Given the description of an element on the screen output the (x, y) to click on. 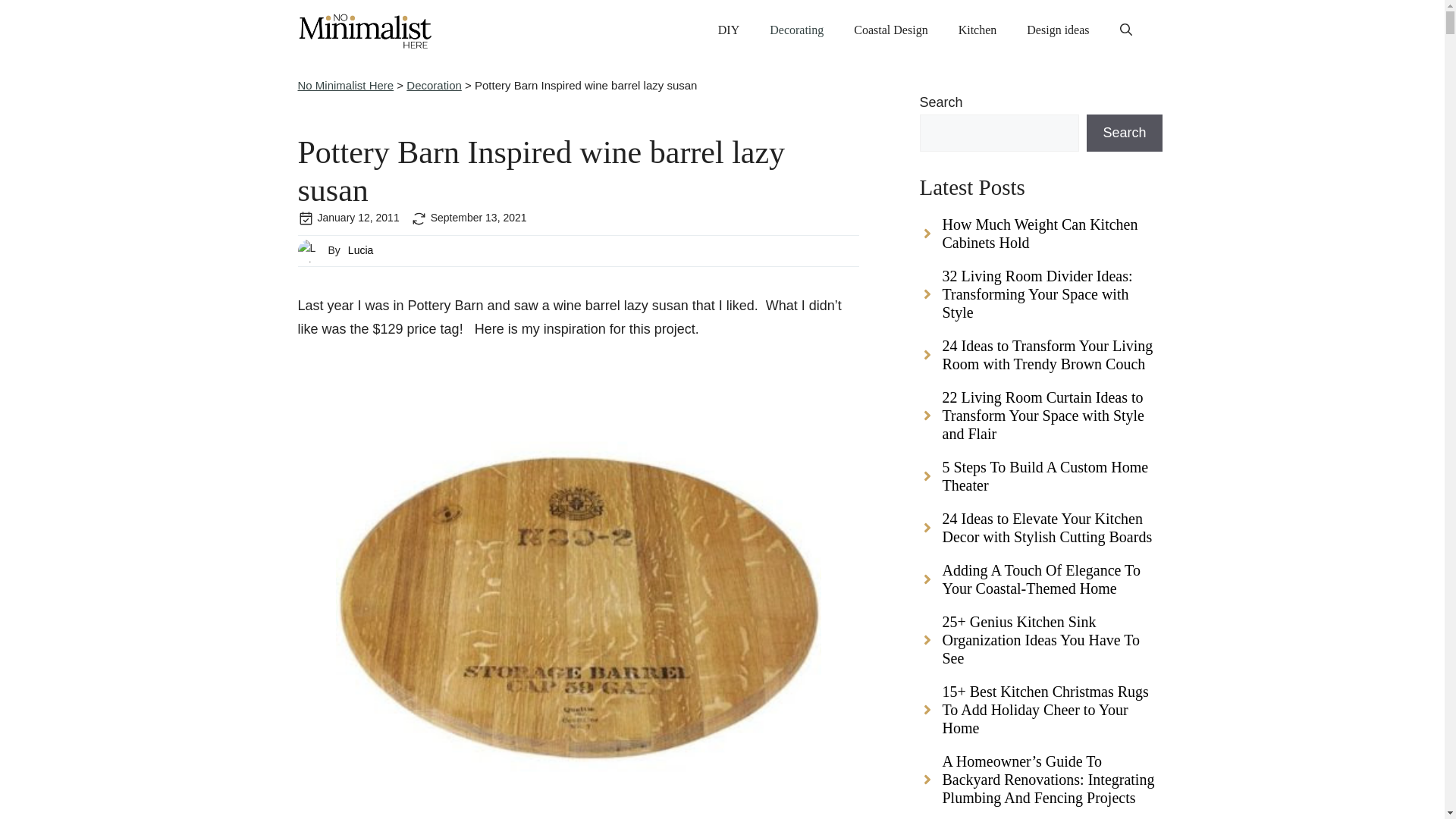
Coastal Design (890, 30)
Decoration (433, 84)
5 Steps To Build A Custom Home Theater (1039, 483)
Decorating (796, 30)
Adding A Touch Of Elegance To Your Coastal-Themed Home (1039, 586)
No Minimalist Here (345, 84)
How Much Weight Can Kitchen Cabinets Hold (1039, 240)
Kitchen (977, 30)
DIY (728, 30)
Go to No Minimalist Here. (345, 84)
Lucia (359, 250)
